Given the description of an element on the screen output the (x, y) to click on. 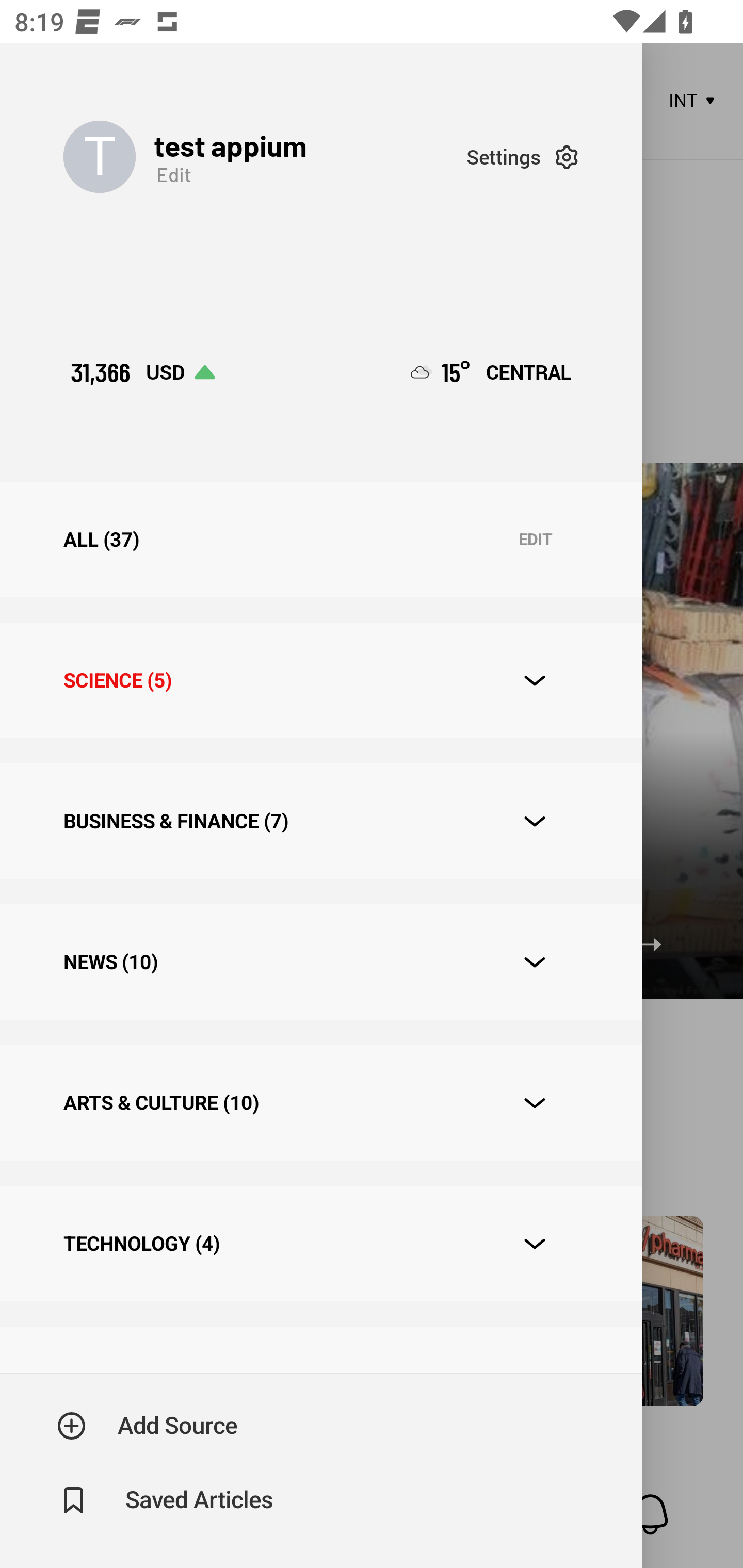
T test appium Edit (264, 156)
Settings Select News Style (522, 156)
31,366 USD Current State of the Currency (142, 372)
Current State of the Weather 15° CENTRAL (490, 372)
ALL  (37) EDIT (320, 539)
EDIT (534, 540)
SCIENCE  (5) Expand Button (320, 680)
Expand Button (534, 681)
BUSINESS & FINANCE  (7) Expand Button (320, 821)
Expand Button (534, 821)
NEWS  (10) Expand Button (320, 961)
Expand Button (534, 961)
ARTS & CULTURE  (10) Expand Button (320, 1102)
Expand Button (534, 1102)
TECHNOLOGY  (4) Expand Button (320, 1243)
Expand Button (534, 1244)
Open Content Store Add Source (147, 1425)
Open Saved News  Saved Articles (166, 1500)
